Given the description of an element on the screen output the (x, y) to click on. 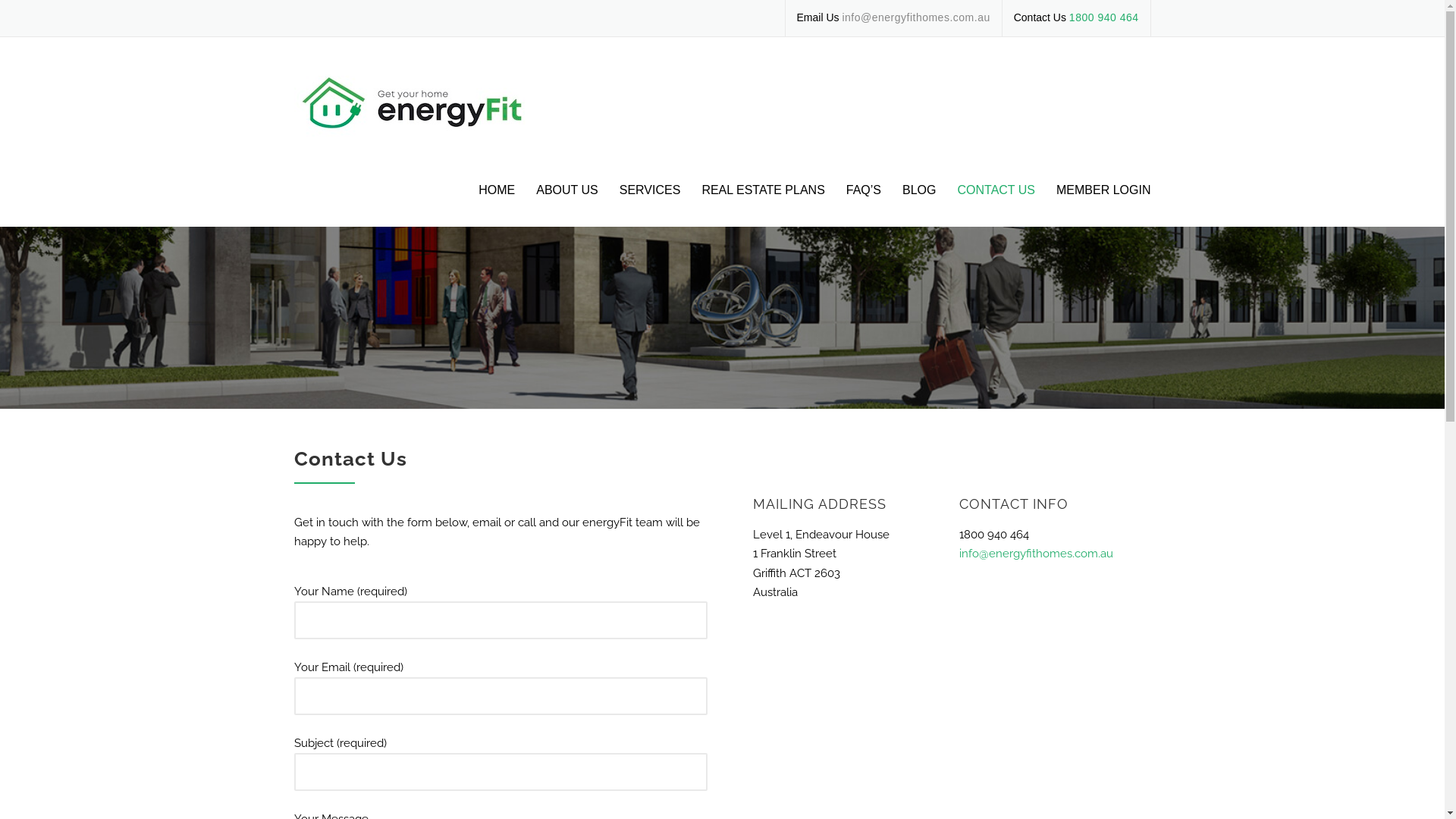
info@energyfithomes.com.au Element type: text (1036, 553)
MEMBER LOGIN Element type: text (1097, 202)
ABOUT US Element type: text (566, 202)
CONTACT US Element type: text (995, 202)
info@energyfithomes.com.au Element type: text (915, 17)
BLOG Element type: text (918, 202)
EnergyFit Homes Element type: hover (427, 103)
REAL ESTATE PLANS Element type: text (762, 202)
HOME Element type: text (496, 202)
SERVICES Element type: text (649, 202)
